Given the description of an element on the screen output the (x, y) to click on. 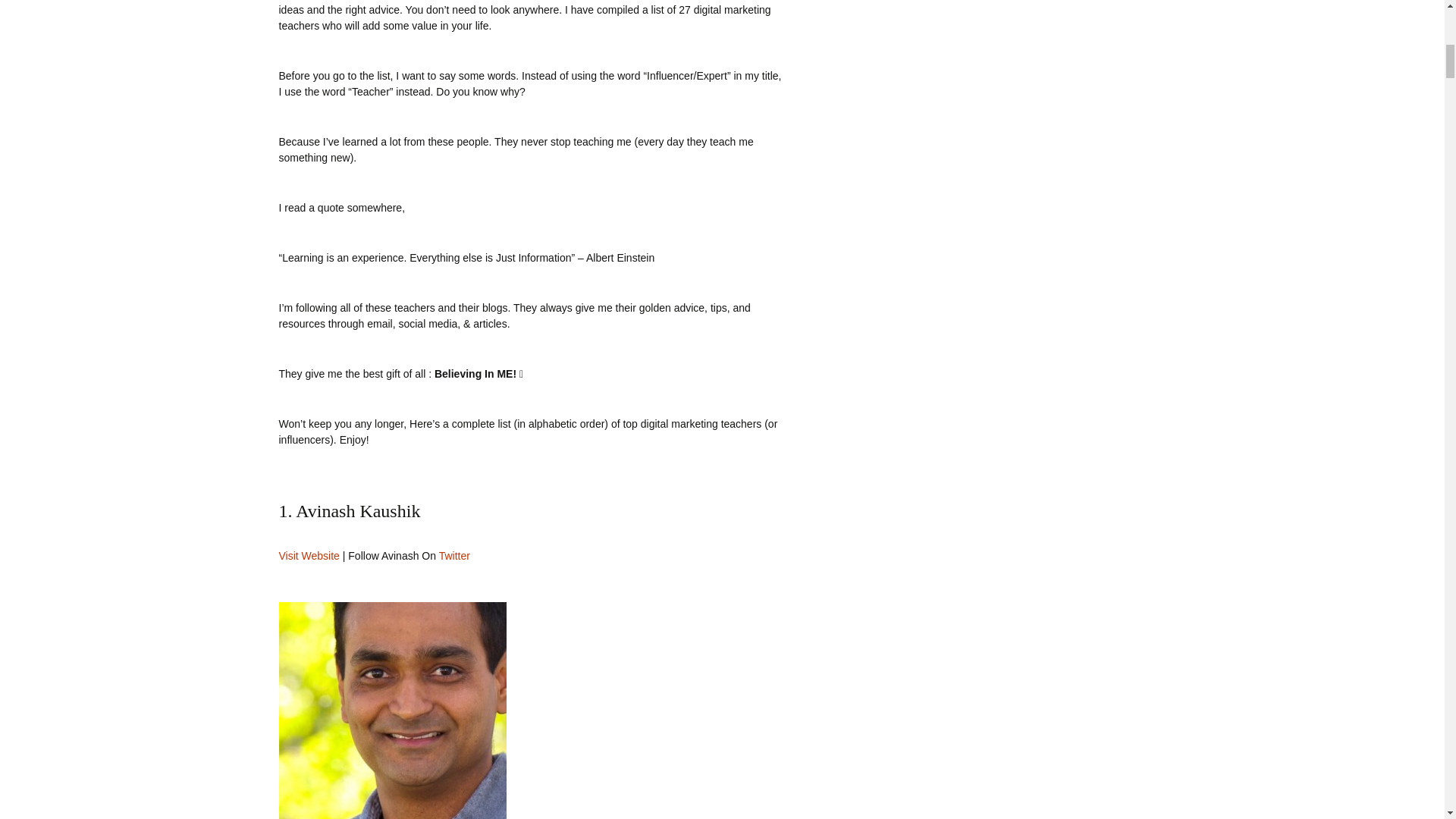
Visit Website (309, 555)
Twitter (454, 555)
